Given the description of an element on the screen output the (x, y) to click on. 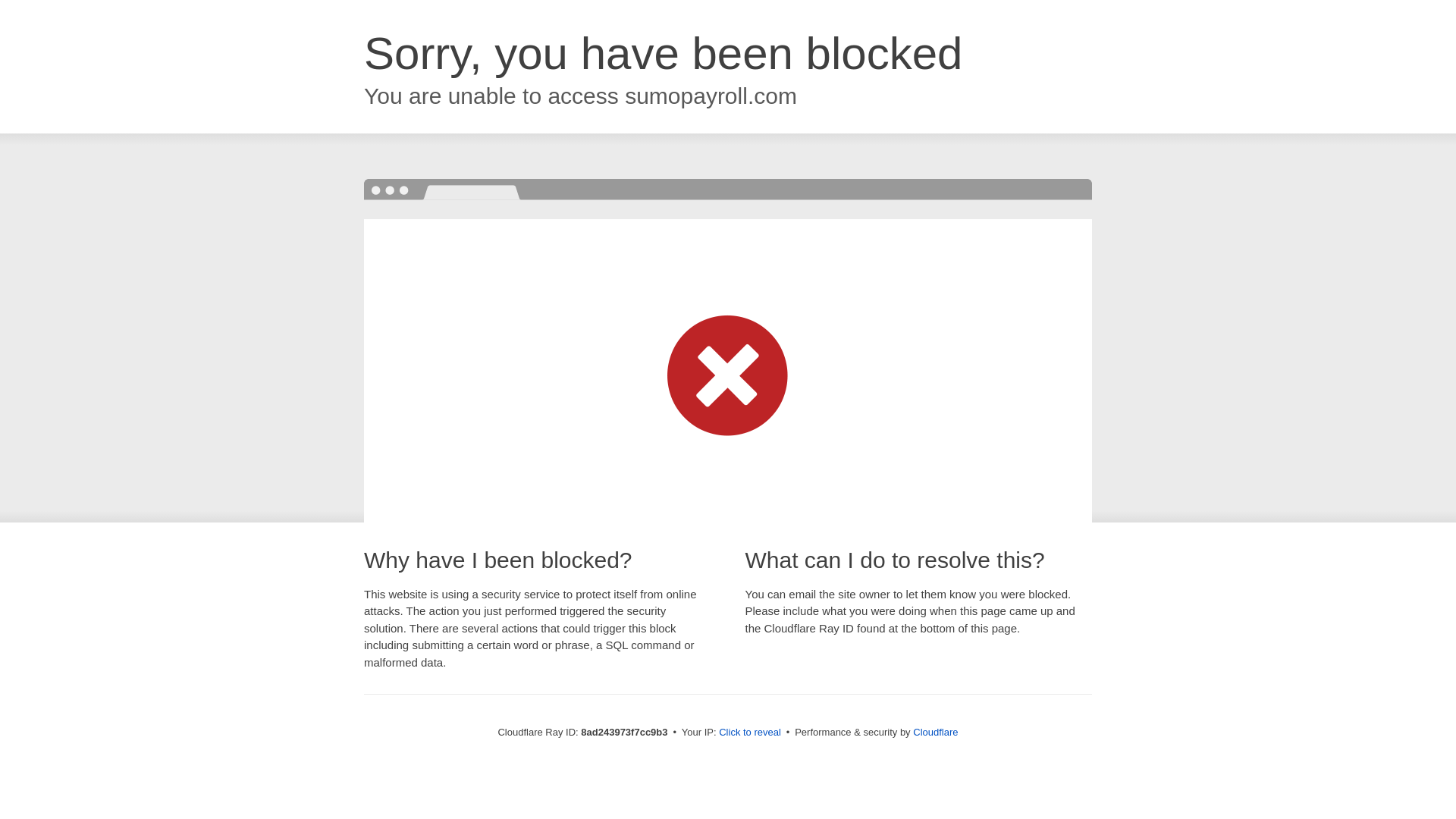
Cloudflare (935, 731)
Click to reveal (749, 732)
